Given the description of an element on the screen output the (x, y) to click on. 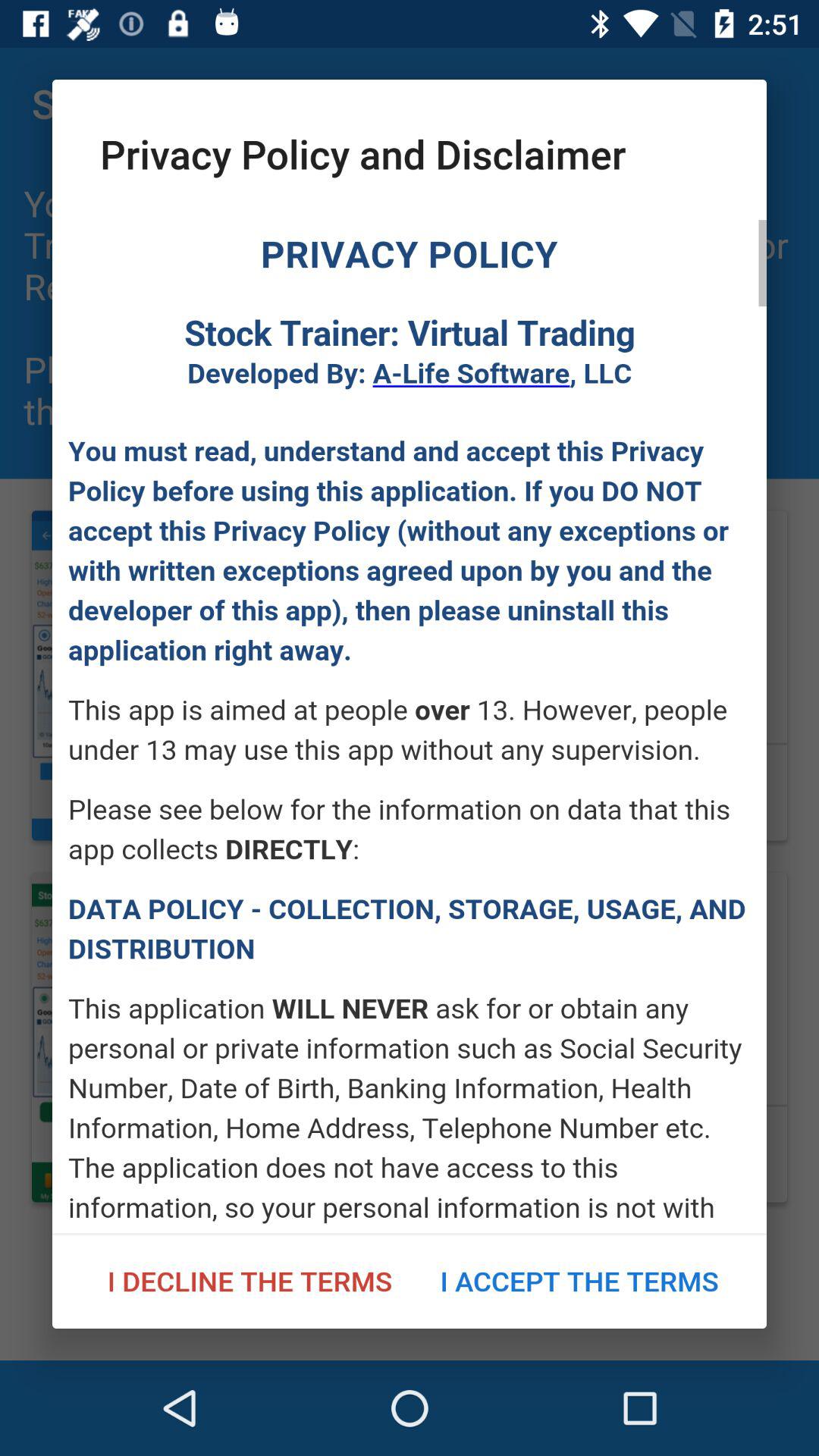
click the description (409, 726)
